Given the description of an element on the screen output the (x, y) to click on. 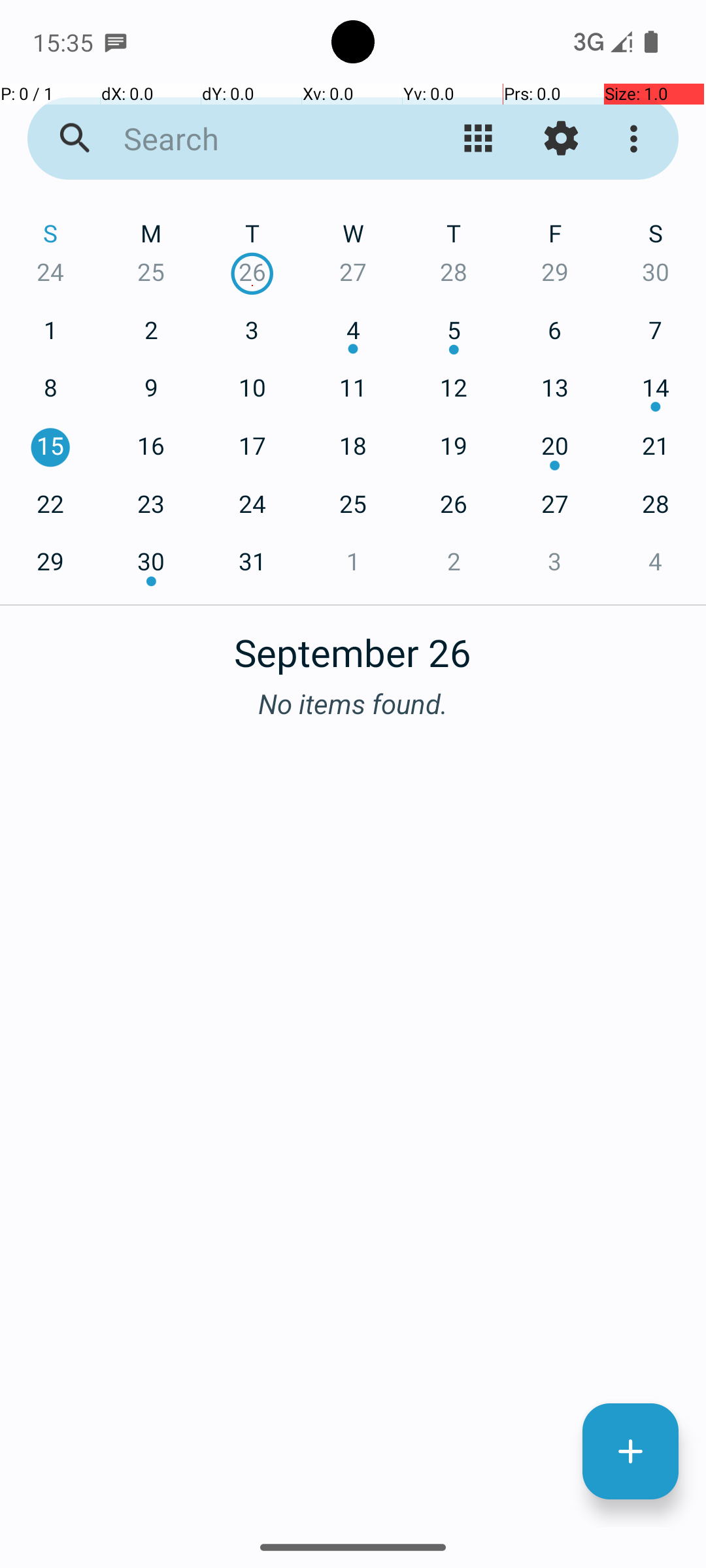
September 26 Element type: android.widget.TextView (352, 644)
